Given the description of an element on the screen output the (x, y) to click on. 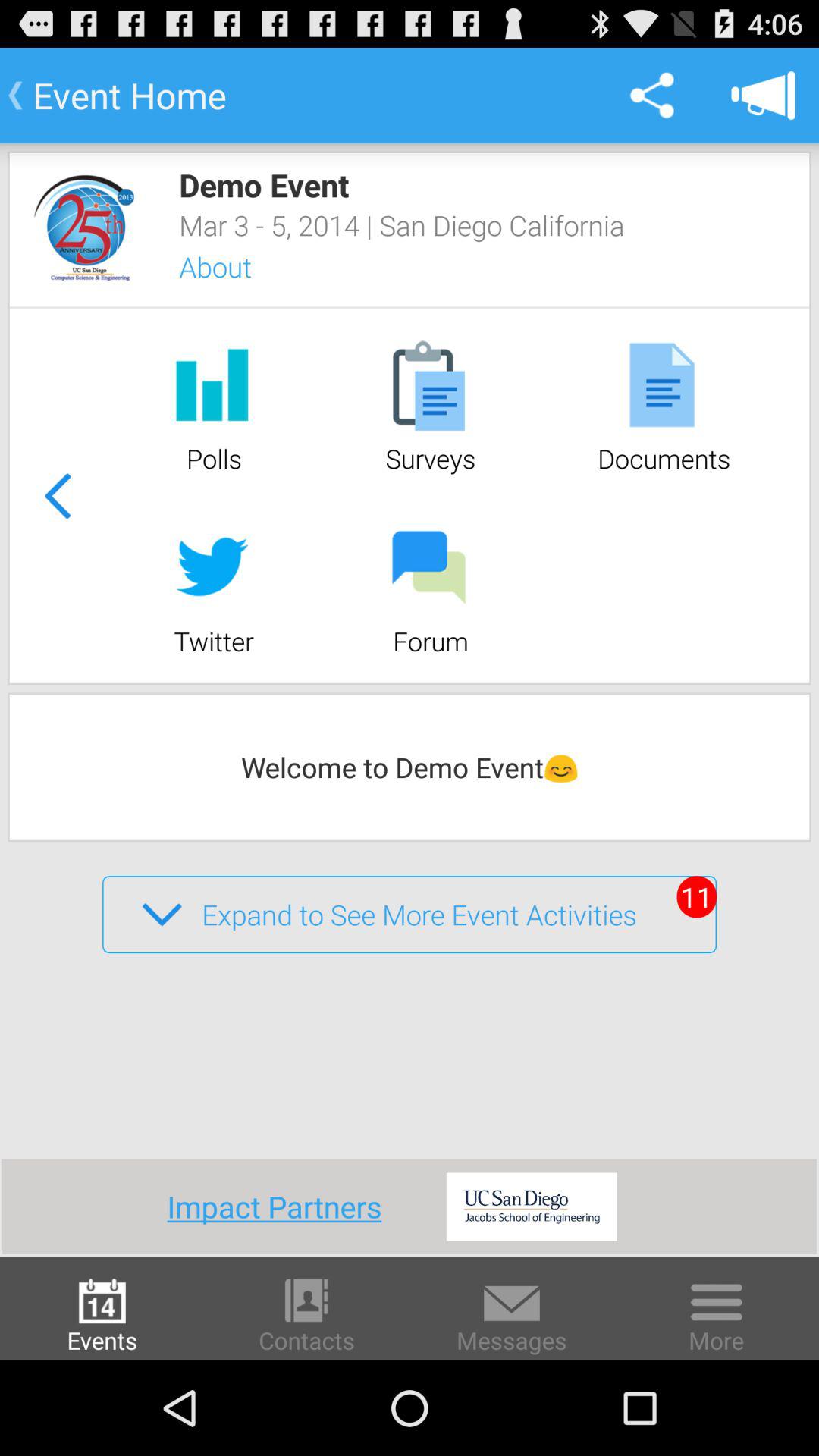
choose the item below expand to see app (279, 1206)
